Given the description of an element on the screen output the (x, y) to click on. 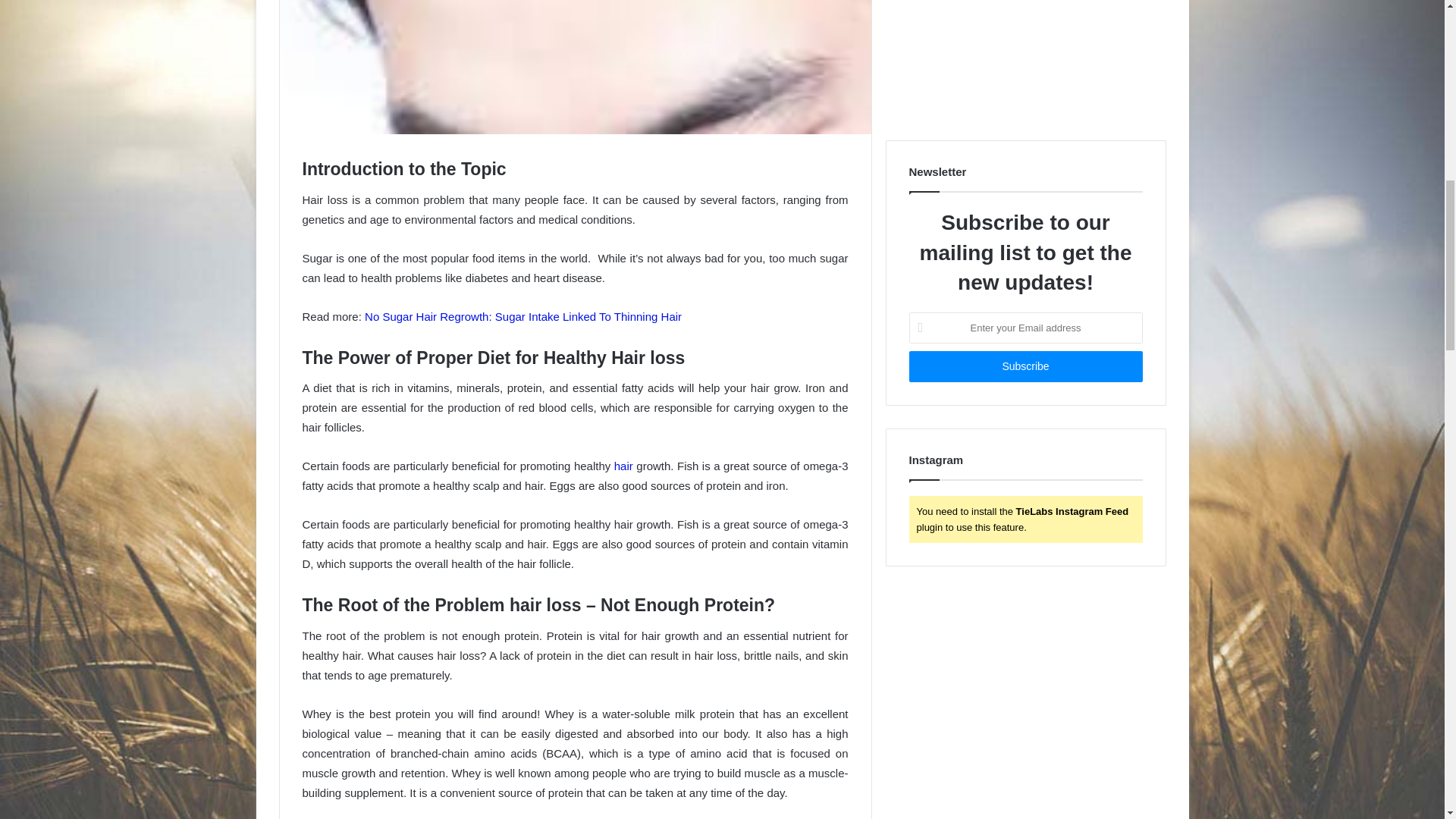
hair (621, 465)
Subscribe (1025, 366)
No Sugar Hair Regrowth: Sugar Intake Linked To Thinning Hair (523, 316)
